Given the description of an element on the screen output the (x, y) to click on. 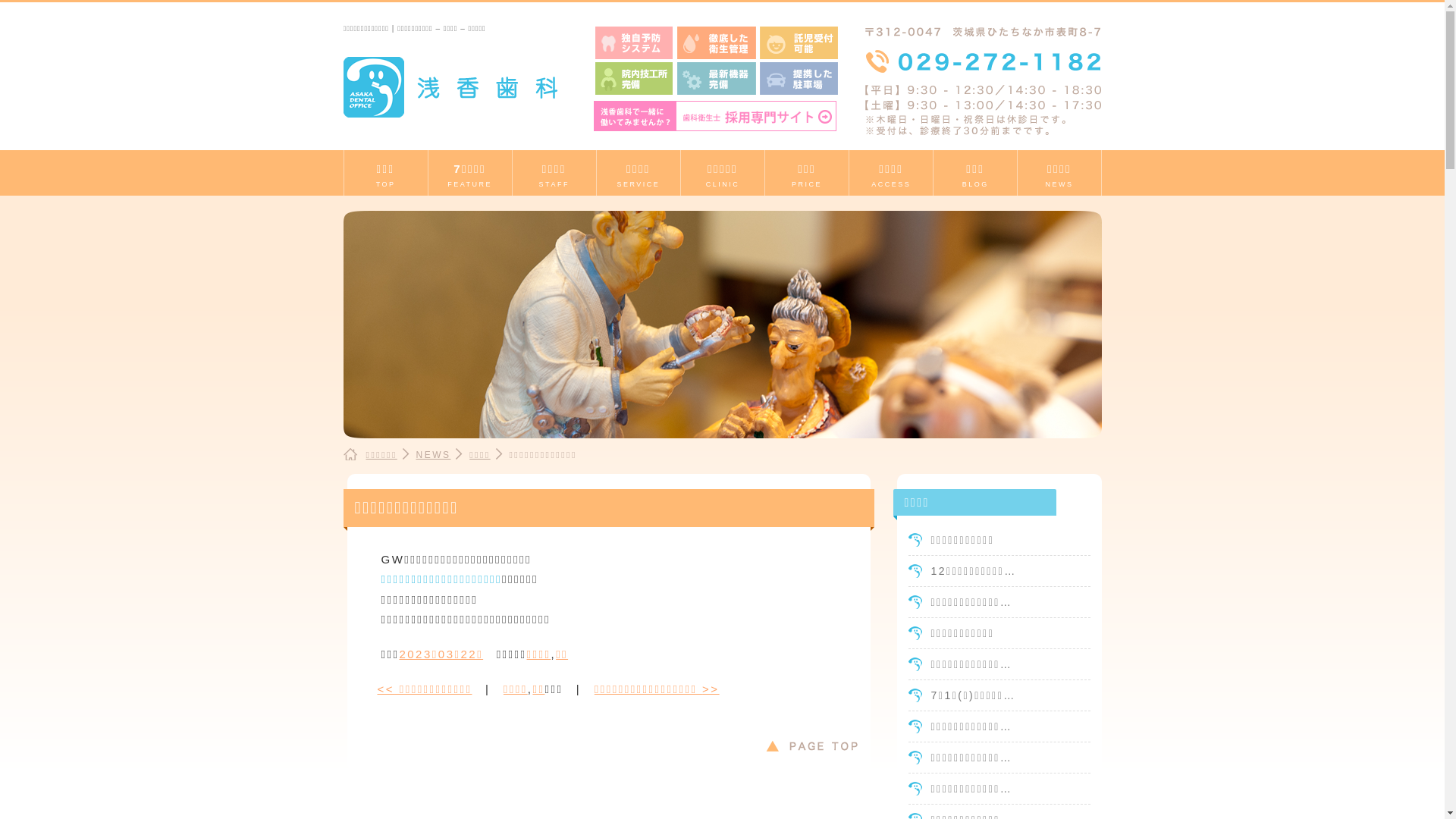
NEWS Element type: text (432, 454)
